Given the description of an element on the screen output the (x, y) to click on. 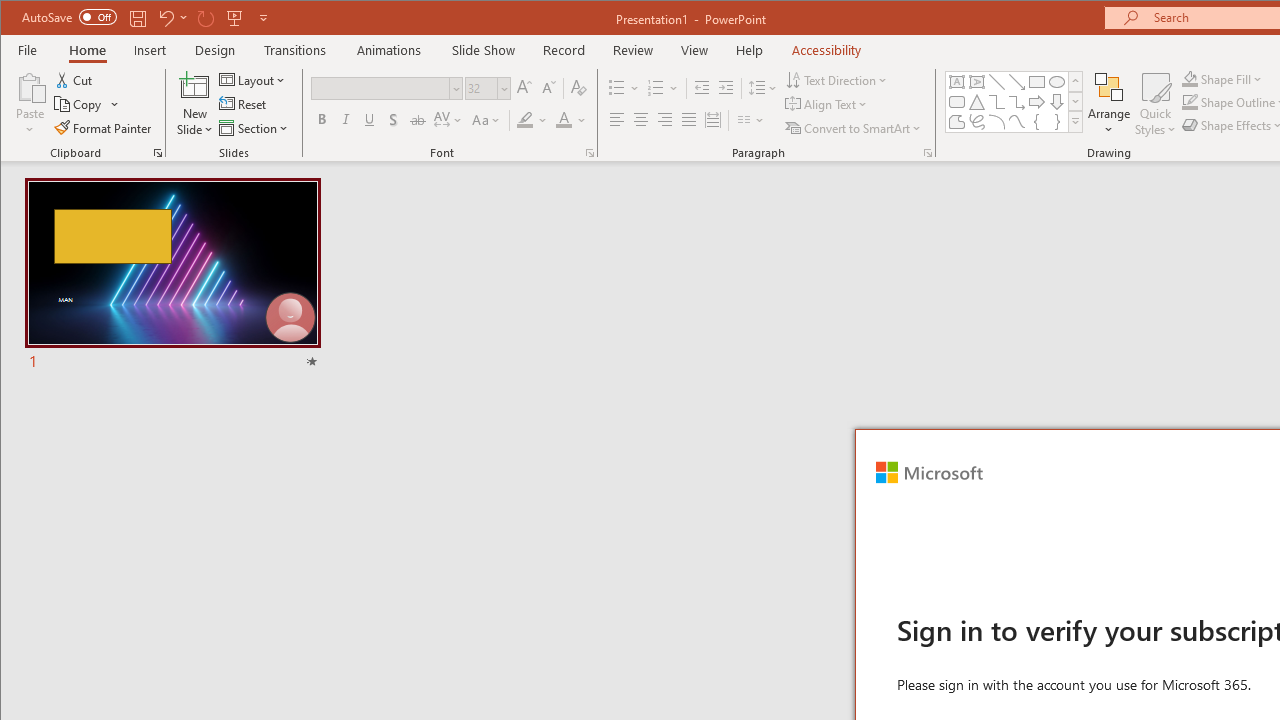
Shape Outline Blue, Accent 1 (1189, 101)
Shape Fill Orange, Accent 2 (1189, 78)
